Given the description of an element on the screen output the (x, y) to click on. 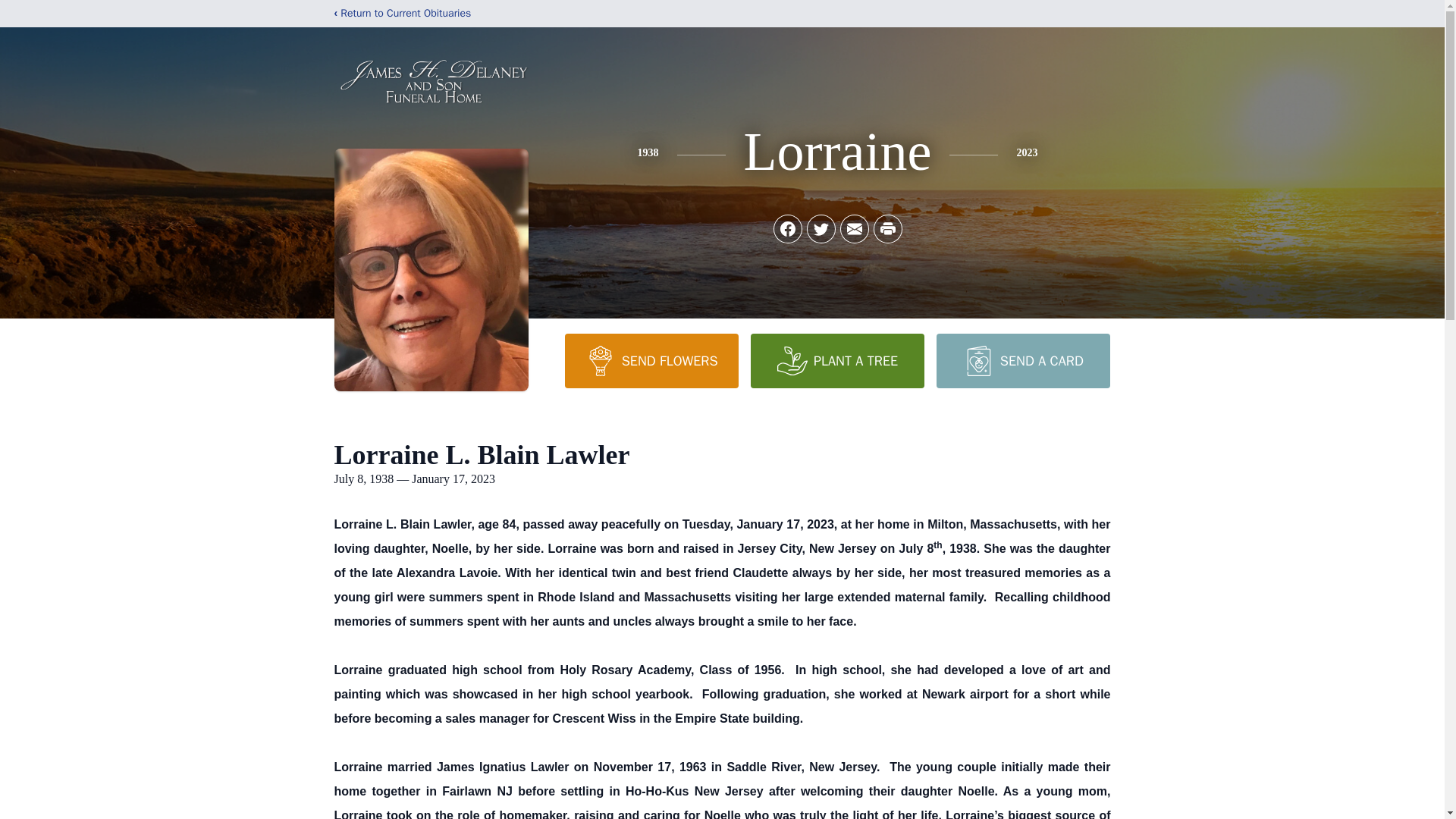
PLANT A TREE (837, 360)
SEND A CARD (1022, 360)
SEND FLOWERS (651, 360)
